Given the description of an element on the screen output the (x, y) to click on. 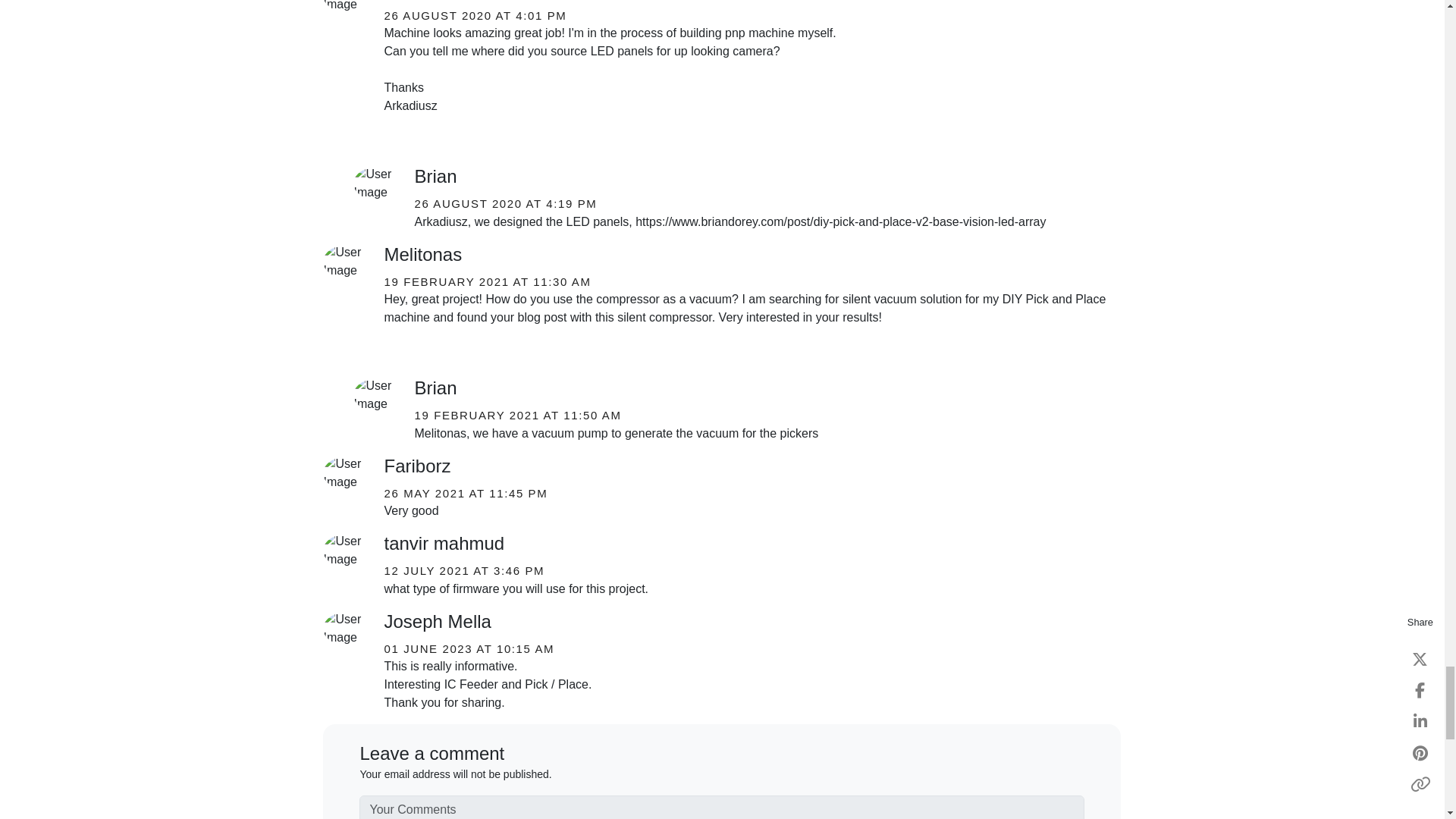
Your Comments (721, 807)
